Given the description of an element on the screen output the (x, y) to click on. 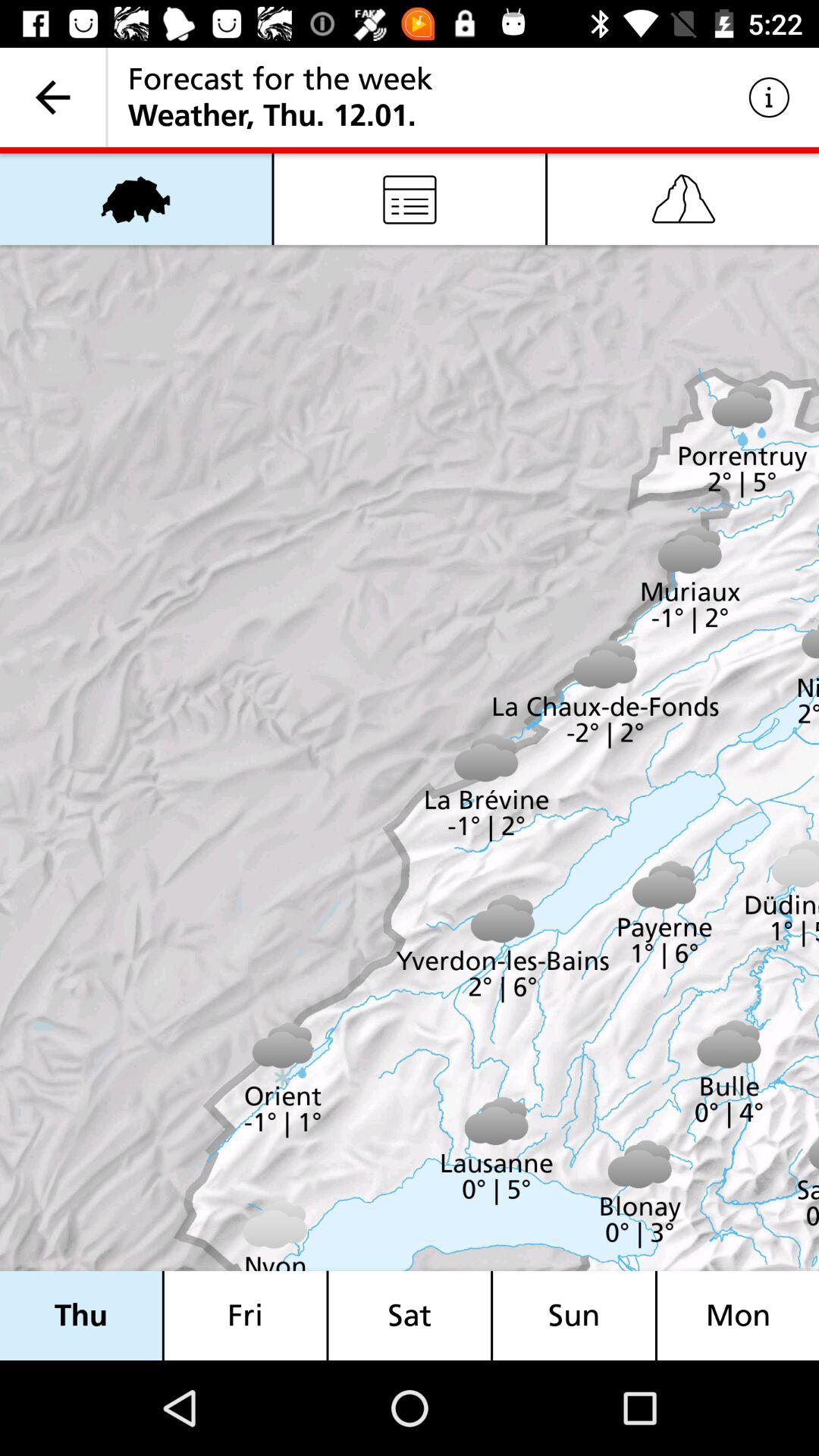
turn off the sat item (409, 1315)
